Given the description of an element on the screen output the (x, y) to click on. 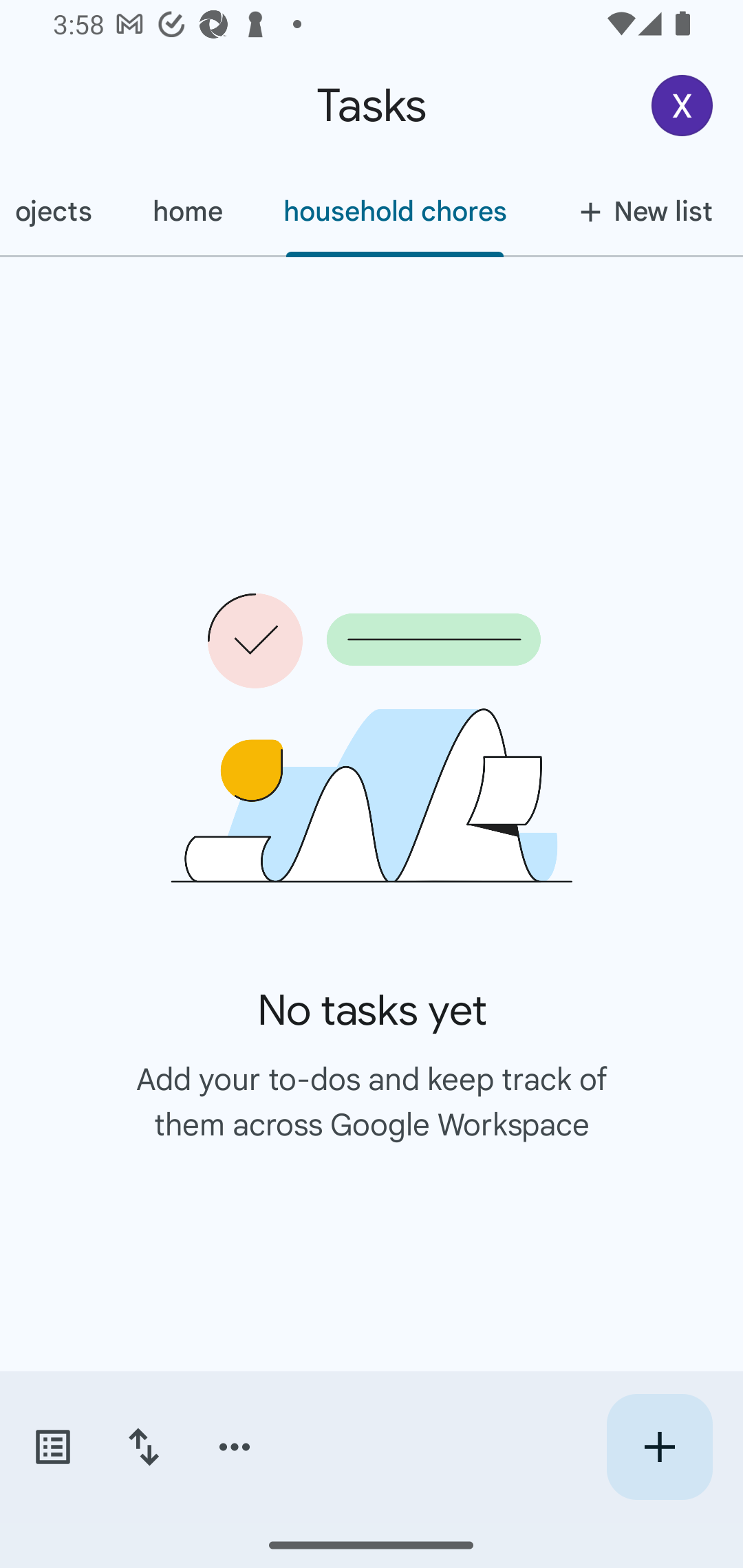
projects (60, 211)
home (186, 211)
New list (640, 211)
Switch task lists (52, 1447)
Create new task (659, 1446)
Change sort order (143, 1446)
More options (234, 1446)
